Given the description of an element on the screen output the (x, y) to click on. 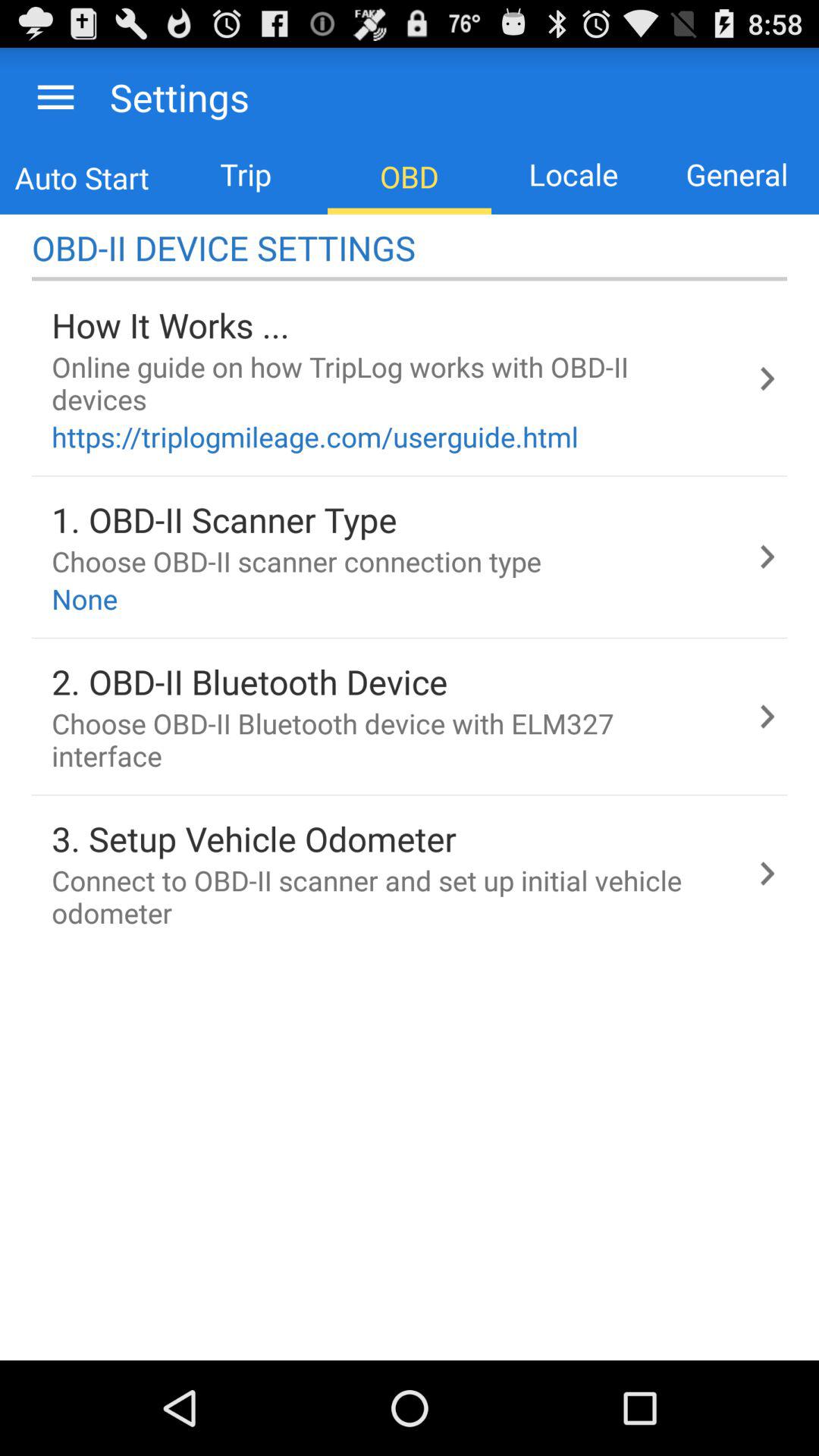
click on the button next to locale (737, 174)
click on the first next arrow (767, 378)
